Given the description of an element on the screen output the (x, y) to click on. 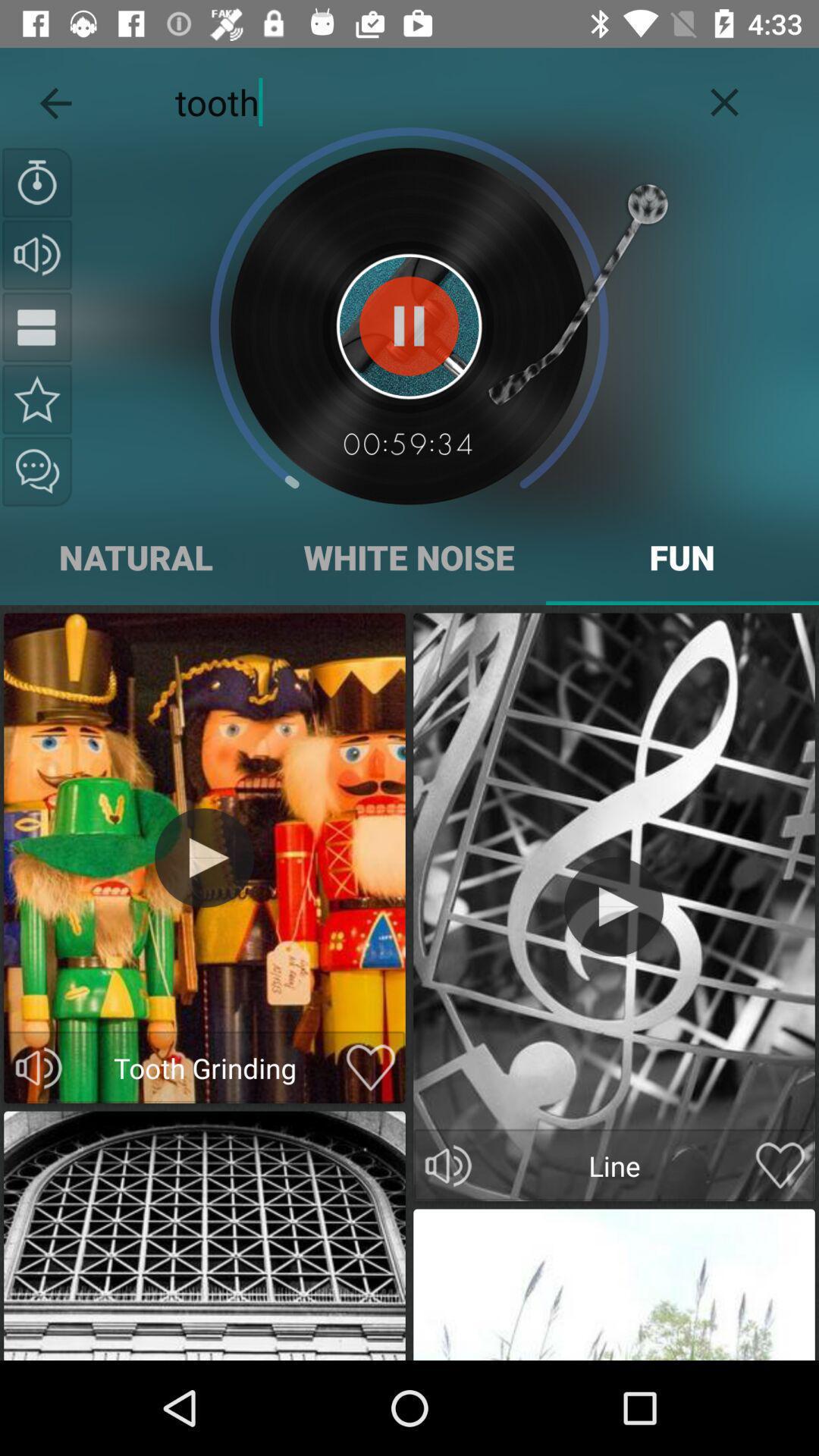
change display of list (37, 327)
